Given the description of an element on the screen output the (x, y) to click on. 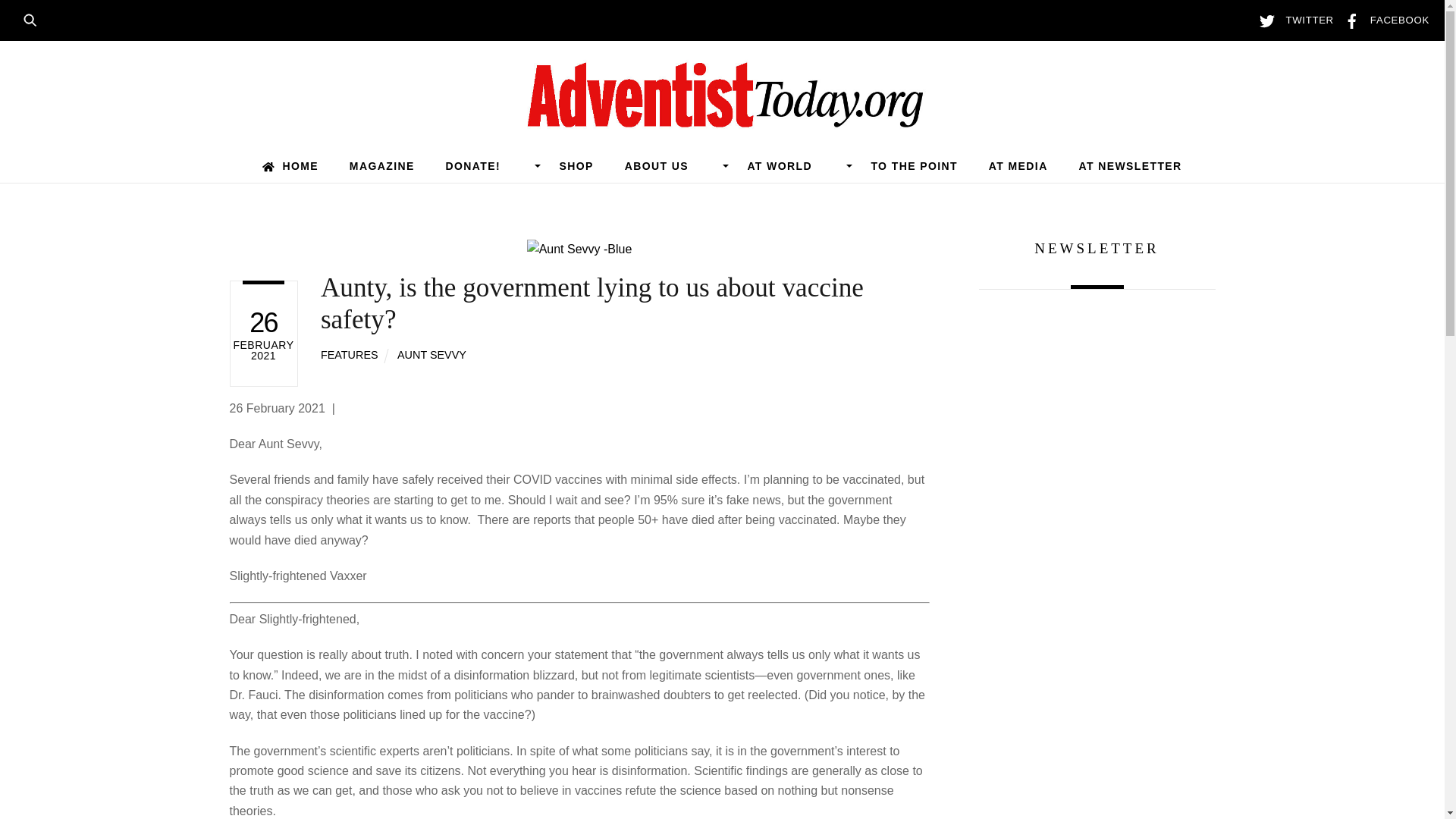
Aunt Sevvy -Blue (579, 249)
TWITTER (1292, 19)
Adventist Today (722, 119)
AT NEWSLETTER (1129, 165)
TO THE POINT (913, 165)
ABOUT US (669, 165)
Search (35, 18)
MAGAZINE (381, 165)
FACEBOOK (1382, 19)
FEATURES (349, 354)
AUNT SEVVY (431, 354)
Aunty, is the government lying to us about vaccine safety? (591, 303)
AT WORLD (793, 165)
SHOP (576, 165)
